Given the description of an element on the screen output the (x, y) to click on. 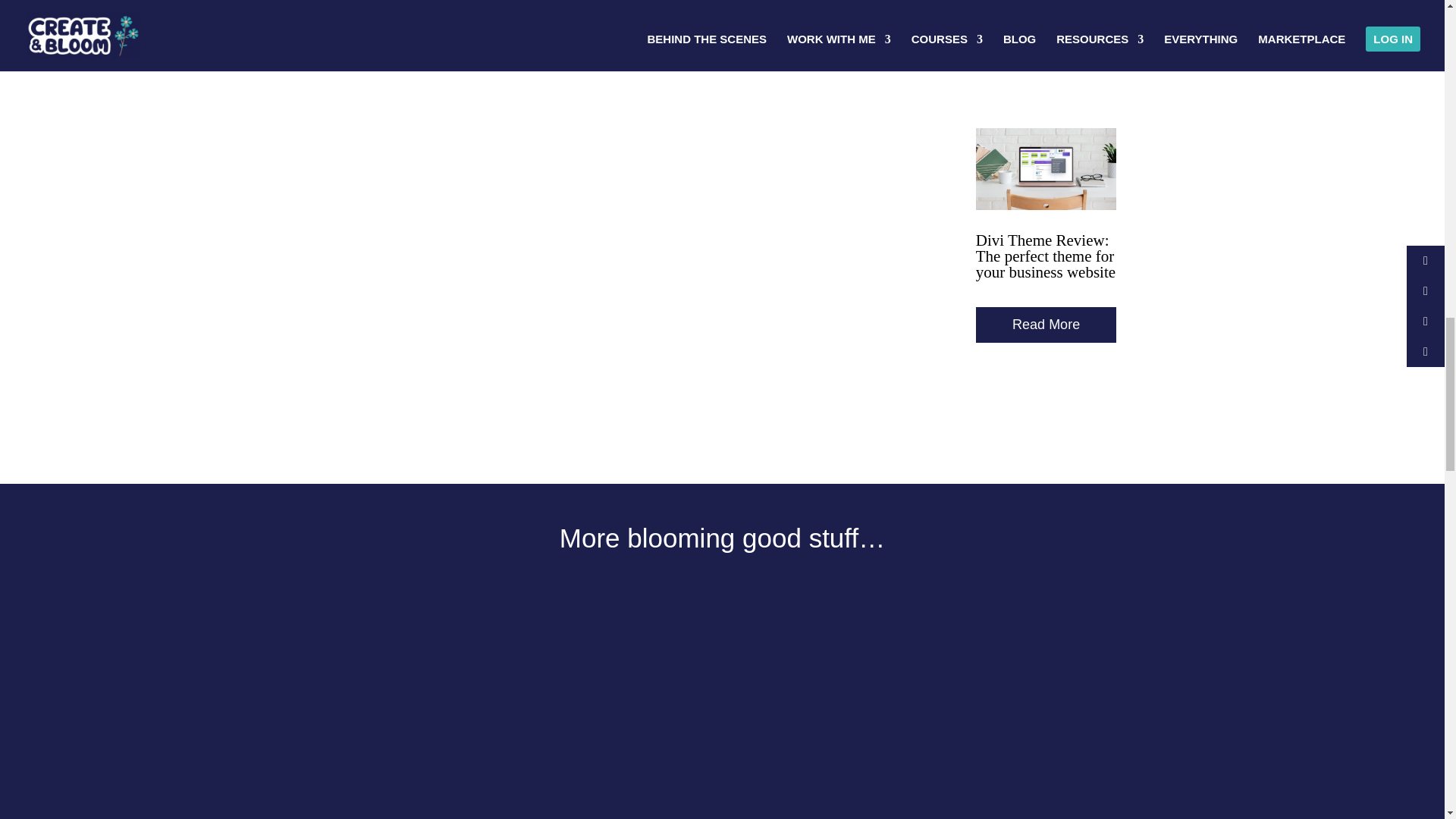
Read More (1045, 325)
Read More (1045, 46)
